Given the description of an element on the screen output the (x, y) to click on. 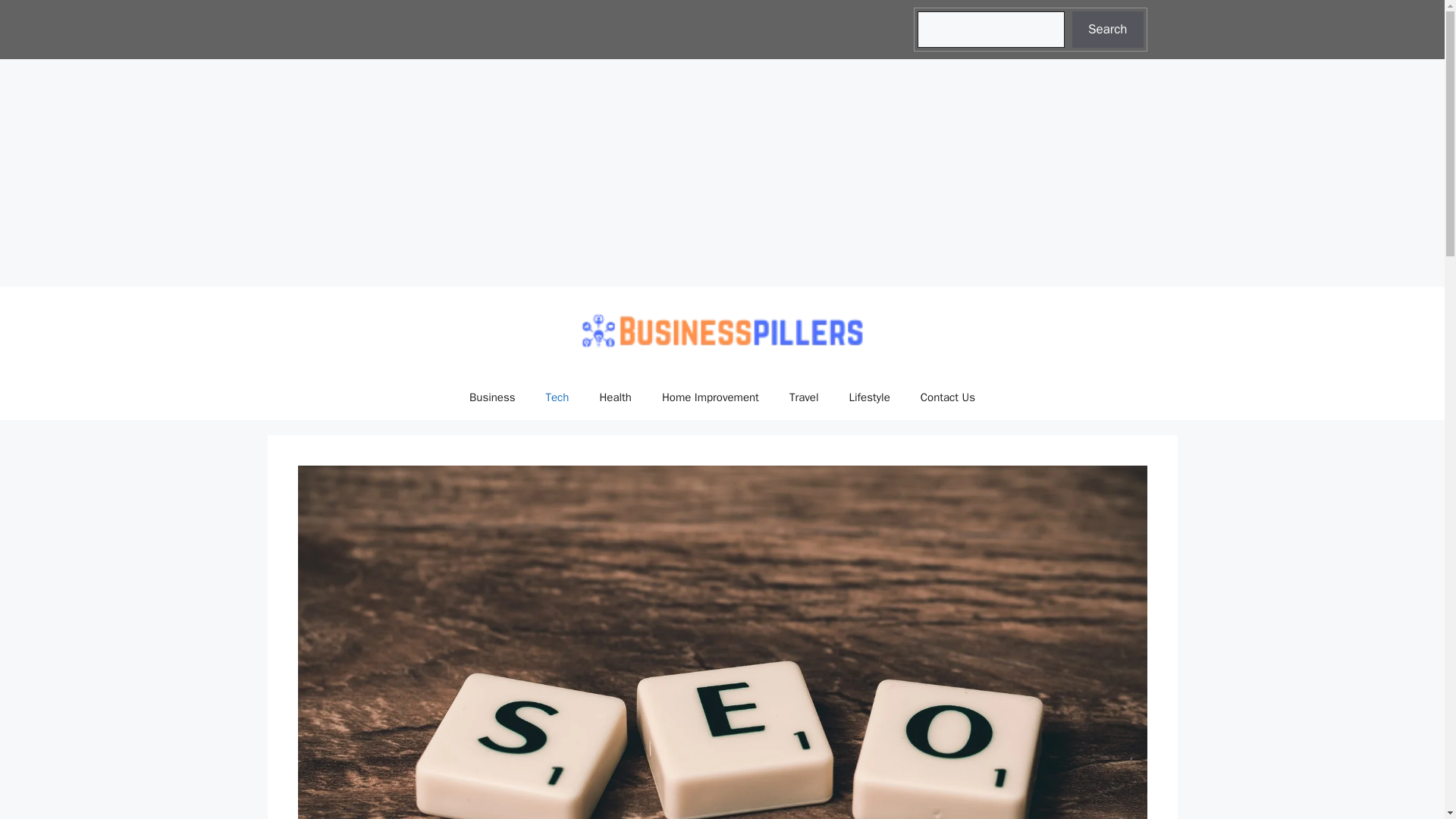
Travel (804, 397)
Home Improvement (710, 397)
Tech (558, 397)
Search (1106, 29)
Contact Us (947, 397)
Lifestyle (869, 397)
Business (492, 397)
Health (614, 397)
